Given the description of an element on the screen output the (x, y) to click on. 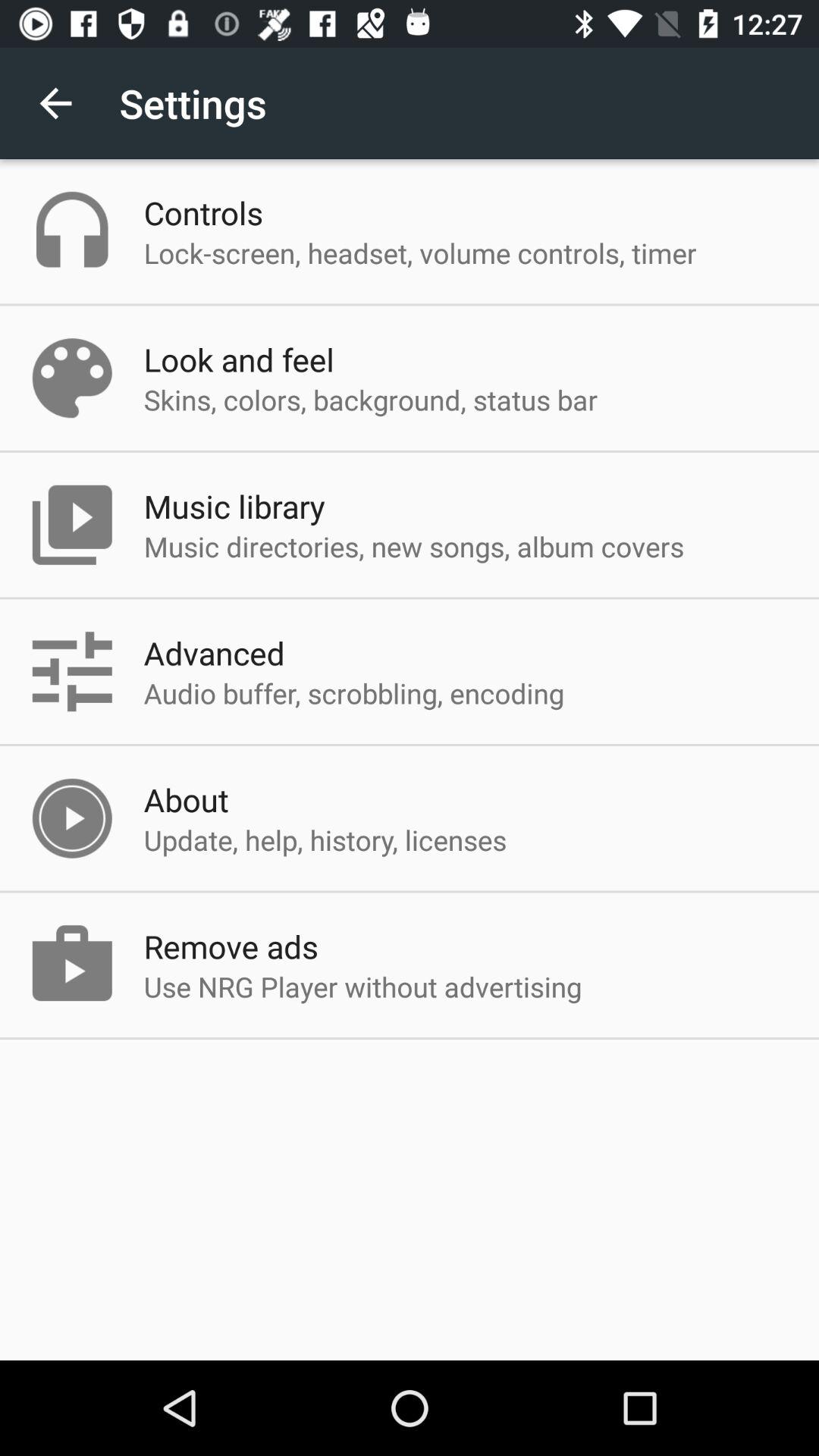
press the advanced app (213, 652)
